Given the description of an element on the screen output the (x, y) to click on. 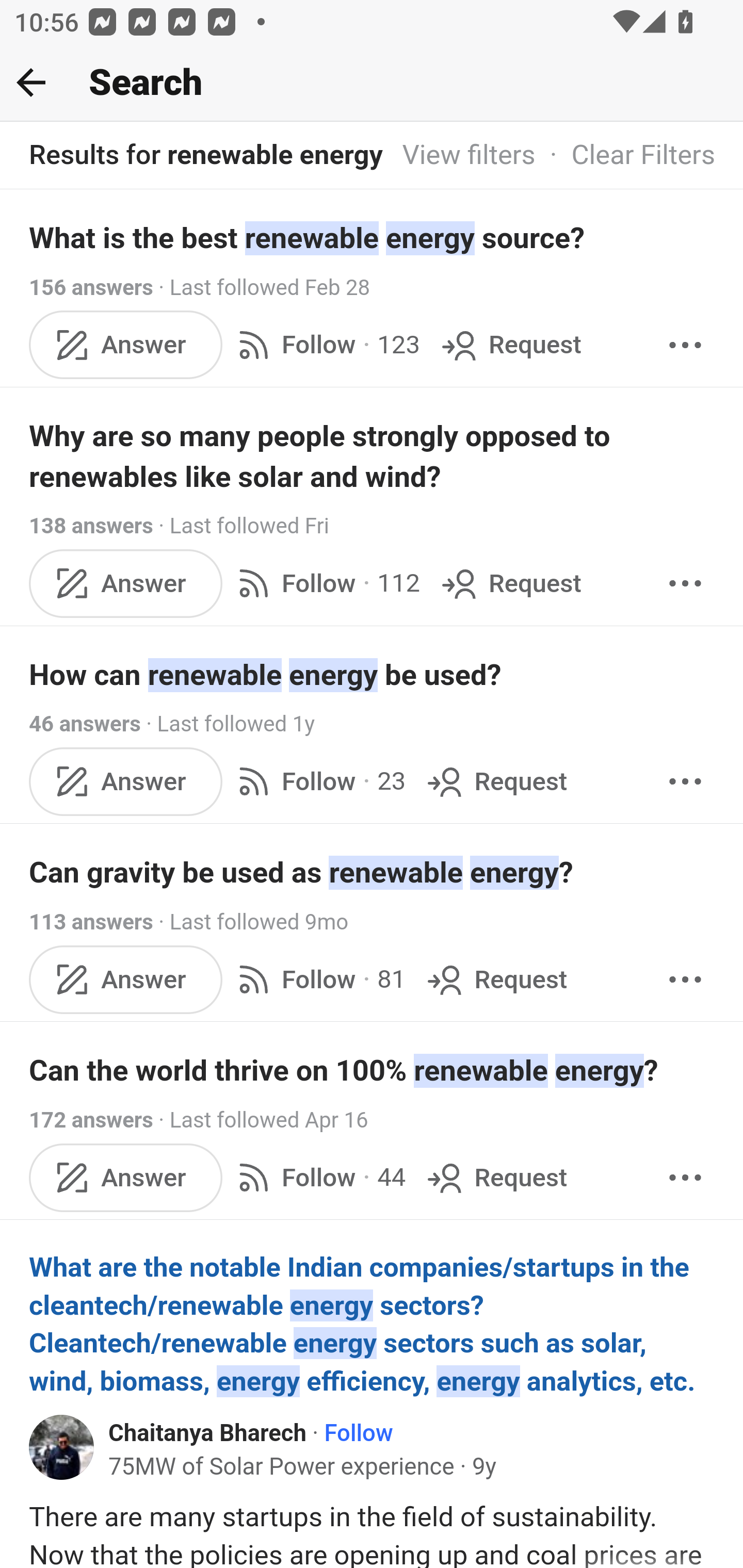
Back Search (371, 82)
Back (30, 82)
View filters (468, 155)
· Clear Filters · Clear Filters (625, 155)
What is the best renewable energy source? (372, 237)
156 answers 156  answers (90, 287)
Answer (125, 343)
Follow · 123 (324, 343)
Request (509, 343)
More (684, 343)
138 answers 138  answers (90, 525)
Answer (125, 582)
Follow · 112 (324, 582)
Request (509, 582)
More (684, 582)
How can renewable energy be used? (372, 674)
46 answers 46  answers (84, 723)
Answer (125, 781)
Follow · 23 (317, 781)
Request (495, 781)
More (684, 781)
Can gravity be used as renewable energy? (372, 872)
113 answers 113  answers (90, 922)
Answer (125, 979)
Follow · 81 (317, 979)
Request (495, 979)
More (684, 979)
Can the world thrive on 100% renewable energy? (372, 1070)
172 answers 172  answers (90, 1120)
Answer (125, 1176)
Follow · 44 (317, 1176)
Request (495, 1176)
More (684, 1176)
Profile photo for Chaitanya Bharech (61, 1447)
Chaitanya Bharech (207, 1433)
Follow (358, 1433)
9y 9 y (484, 1467)
